Given the description of an element on the screen output the (x, y) to click on. 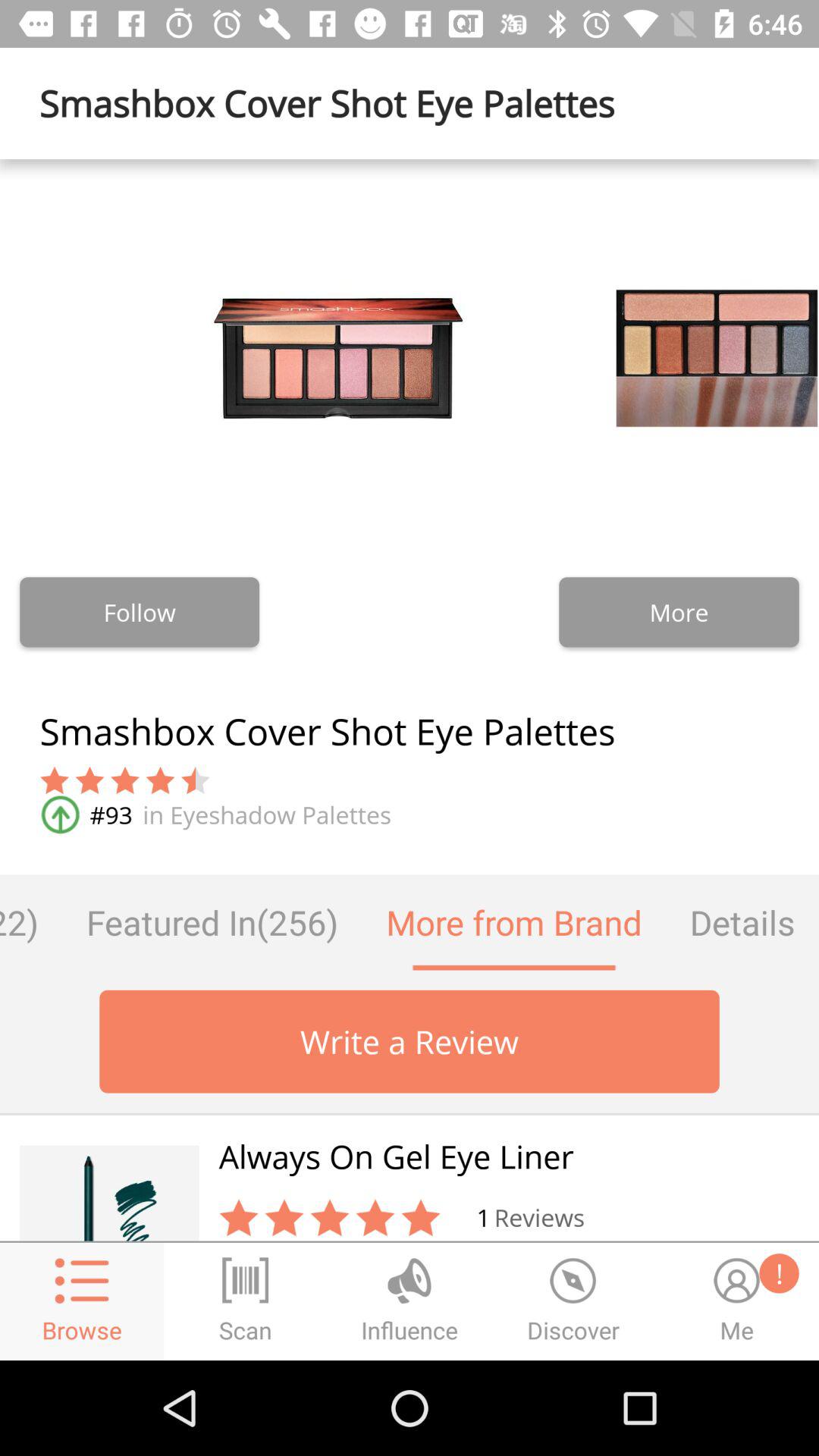
press item next to details item (514, 922)
